Given the description of an element on the screen output the (x, y) to click on. 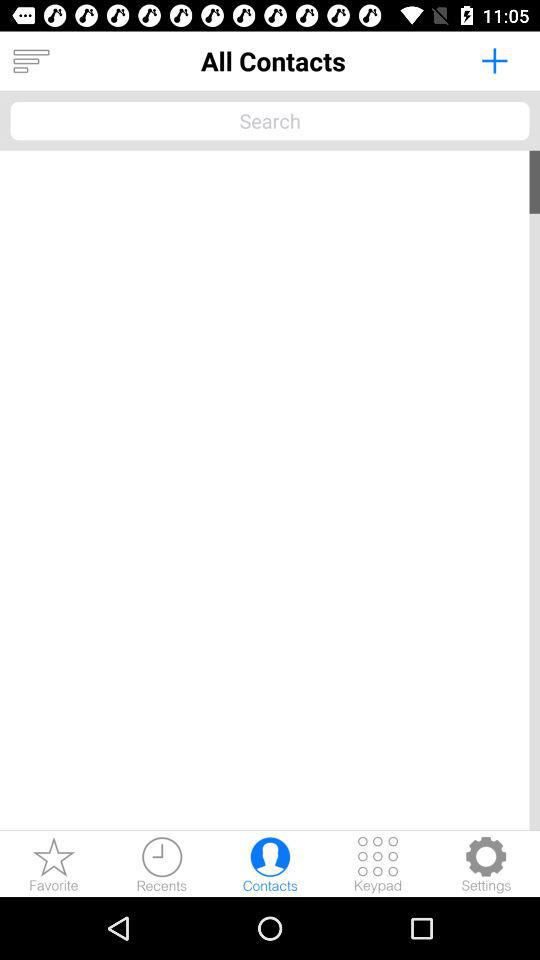
add new contact (494, 60)
